Given the description of an element on the screen output the (x, y) to click on. 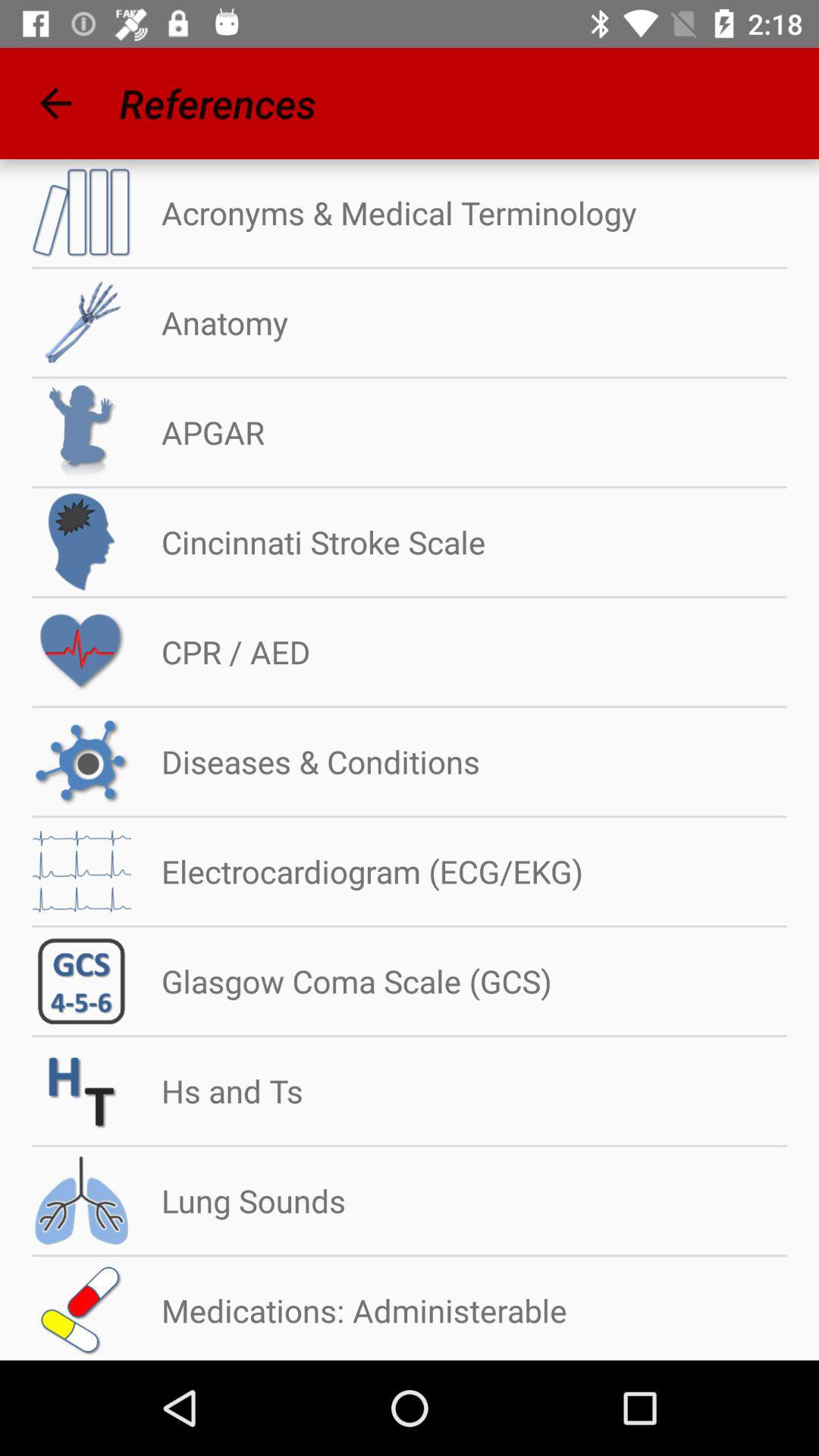
choose the electrocardiogram (ecg/ekg) (356, 871)
